Given the description of an element on the screen output the (x, y) to click on. 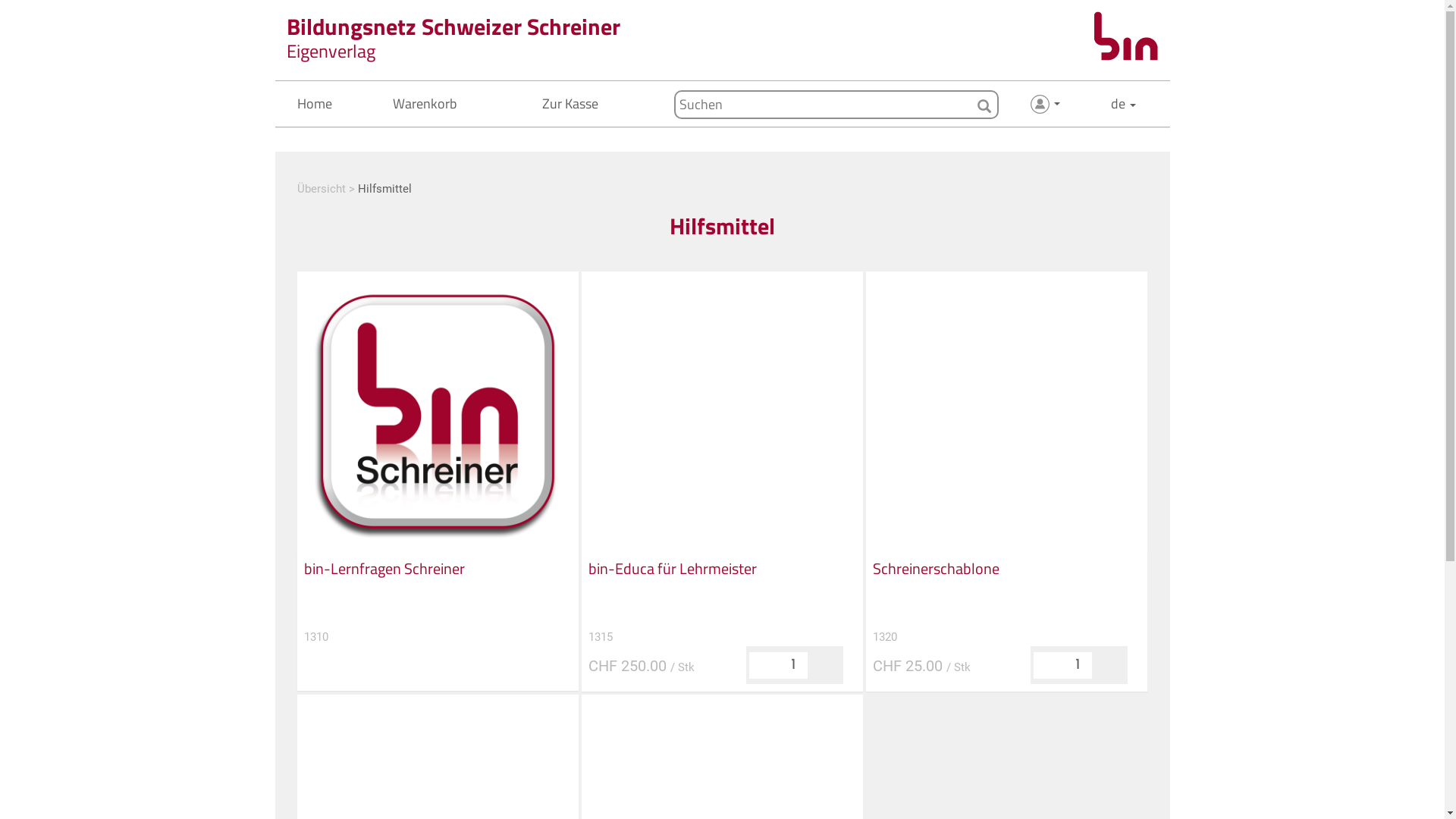
Home Element type: text (313, 103)
Schreinerschablone
1320 Element type: text (1005, 602)
Zur Kasse Element type: text (568, 103)
Hilfsmittel Element type: text (384, 188)
Warenkorb Element type: text (422, 103)
bin-Lernfragen Schreiner
1310 Element type: text (437, 602)
